Given the description of an element on the screen output the (x, y) to click on. 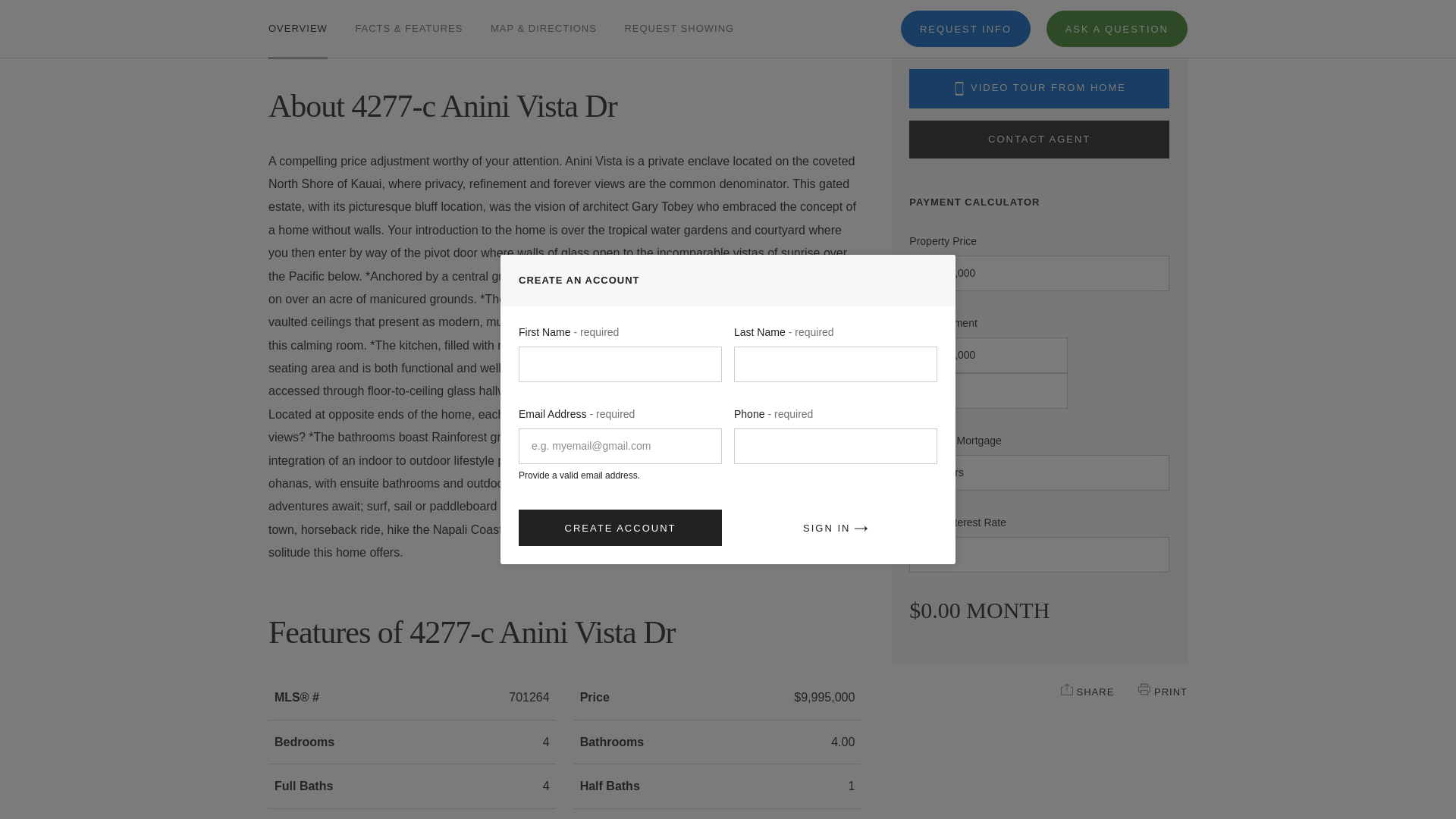
MOBILE ICON (959, 88)
PRINT (1144, 689)
SHARE (1067, 689)
